Given the description of an element on the screen output the (x, y) to click on. 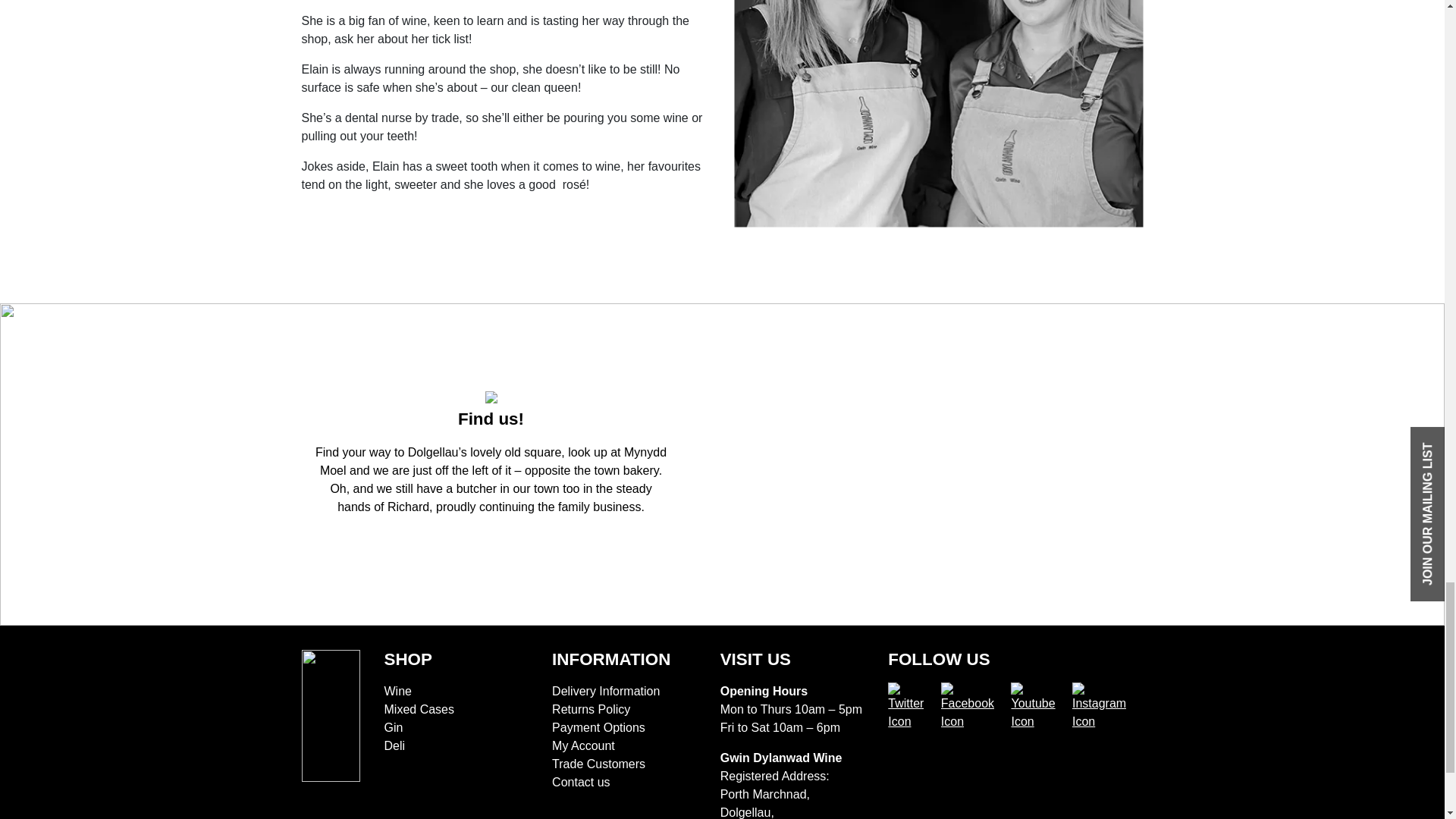
Twitter (914, 706)
Facebook (975, 706)
Youtube (1040, 706)
Instagram (1106, 706)
